Given the description of an element on the screen output the (x, y) to click on. 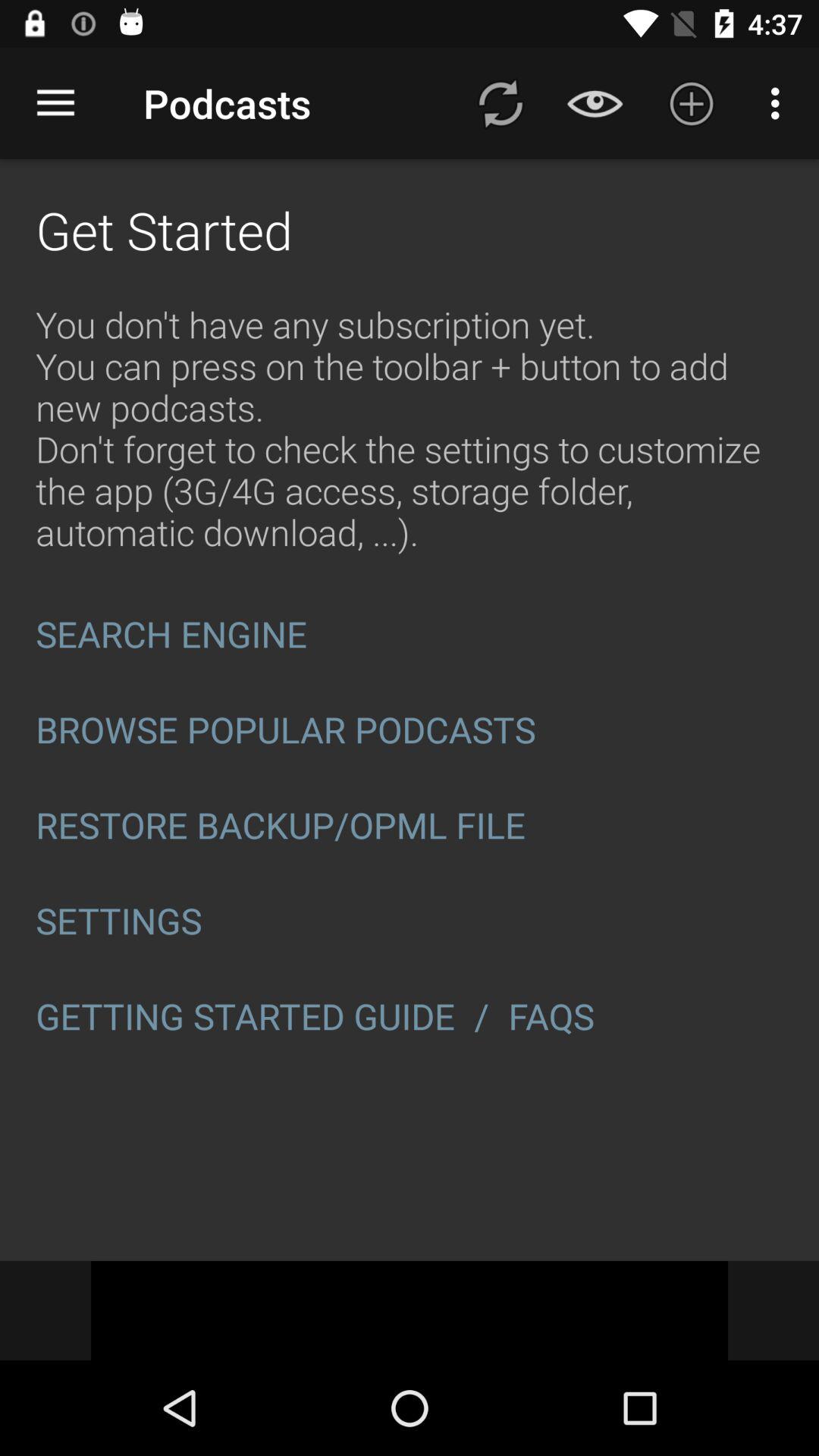
open item above the browse popular podcasts icon (409, 633)
